Given the description of an element on the screen output the (x, y) to click on. 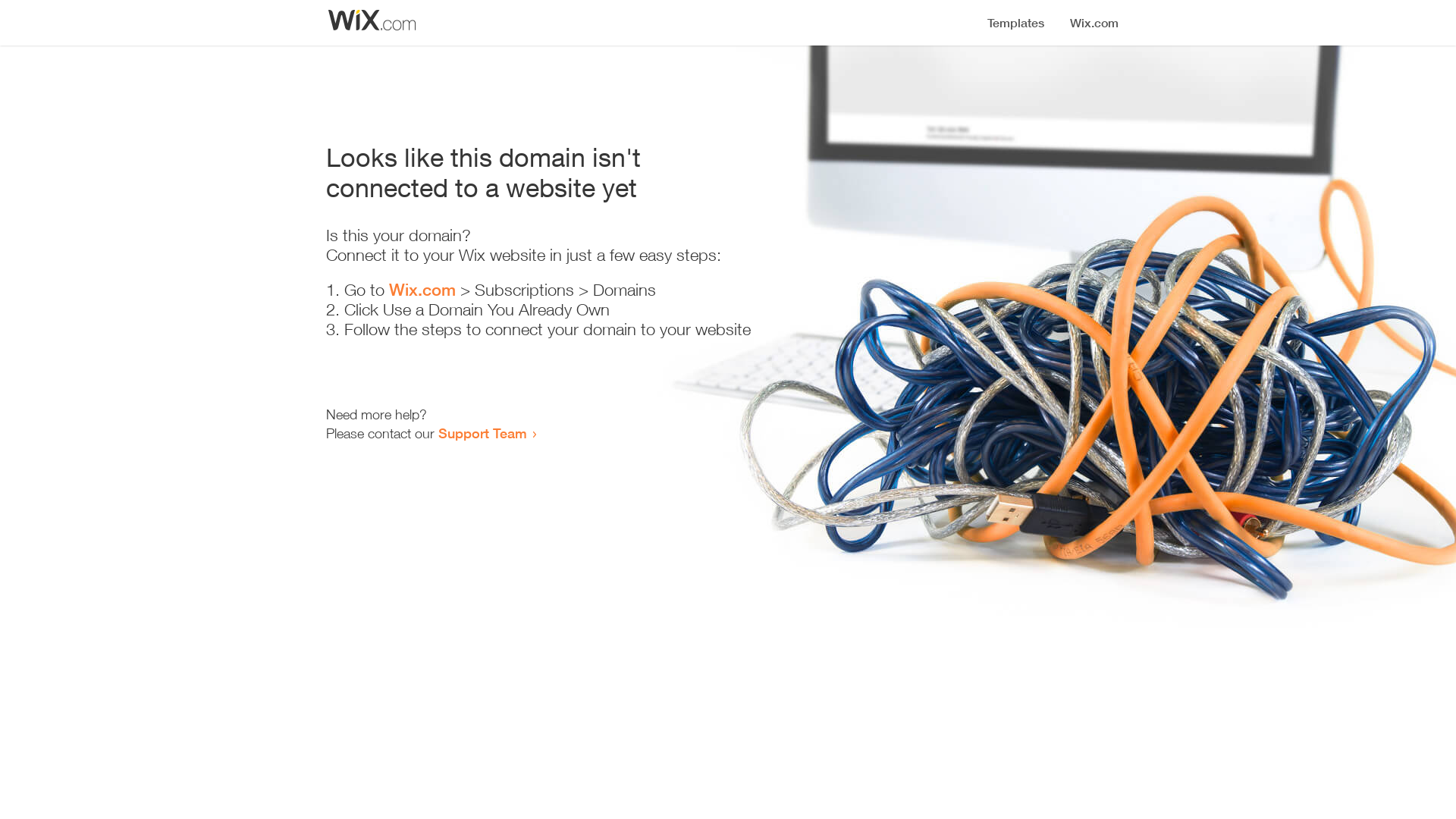
Support Team Element type: text (482, 432)
Wix.com Element type: text (422, 289)
